Given the description of an element on the screen output the (x, y) to click on. 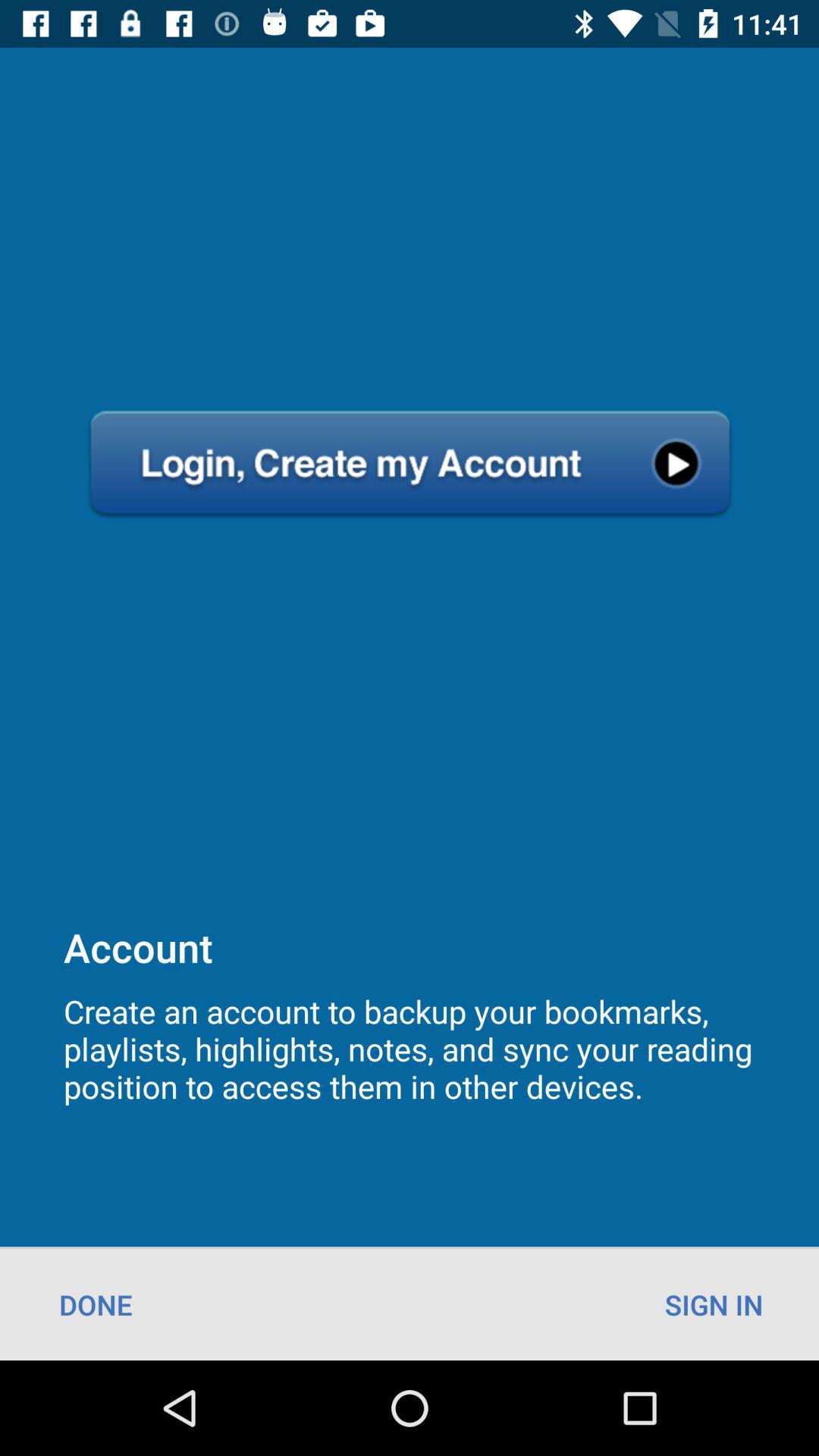
tap icon to the left of the sign in icon (95, 1304)
